Given the description of an element on the screen output the (x, y) to click on. 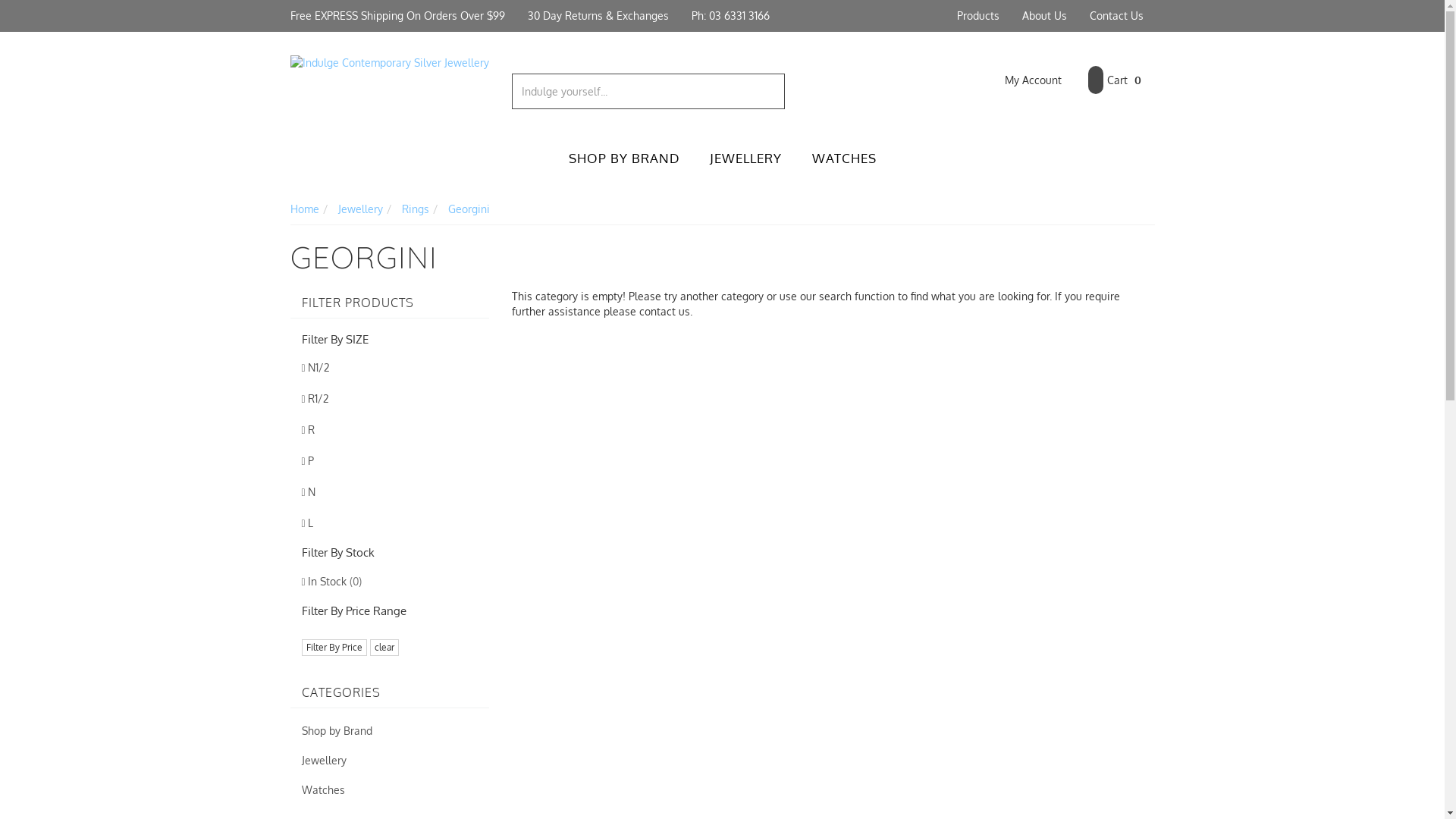
Jewellery Element type: text (389, 760)
Ph: 03 6331 3166 Element type: text (729, 15)
Cart 0 Element type: text (1113, 80)
Georgini Element type: text (468, 208)
In Stock (0) Element type: text (389, 581)
Home Element type: text (303, 208)
Shop by Brand Element type: text (389, 730)
L Element type: text (389, 523)
Rings Element type: text (415, 208)
WATCHES Element type: text (843, 158)
R Element type: text (389, 429)
SHOP BY BRAND Element type: text (623, 158)
Watches Element type: text (389, 790)
N Element type: text (389, 492)
Indulge Contemporary Silver Jewellery Element type: hover (389, 61)
FILTER PRODUCTS Element type: text (389, 303)
Products Element type: text (977, 15)
About Us Element type: text (1043, 15)
Free EXPRESS Shipping On Orders Over $99 Element type: text (397, 15)
JEWELLERY Element type: text (745, 158)
P Element type: text (389, 460)
R1/2 Element type: text (389, 398)
Filter By Price Element type: text (334, 647)
Contact Us Element type: text (1116, 15)
30 Day Returns & Exchanges Element type: text (597, 15)
My Account Element type: text (1021, 80)
Jewellery Element type: text (360, 208)
N1/2 Element type: text (389, 367)
clear Element type: text (384, 647)
Search Element type: text (774, 91)
